Given the description of an element on the screen output the (x, y) to click on. 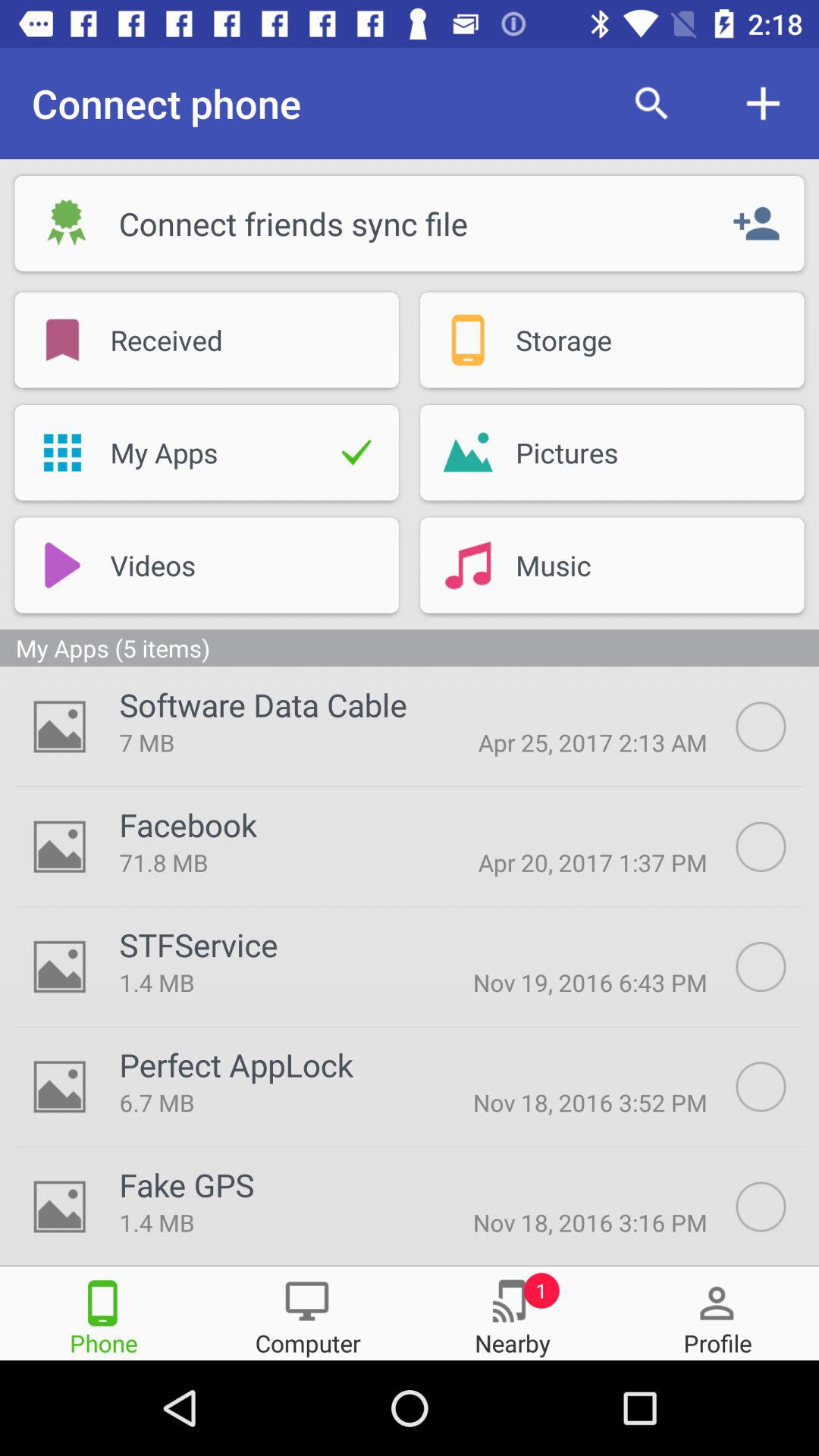
turn off app next to apr 25 2017 (263, 704)
